Given the description of an element on the screen output the (x, y) to click on. 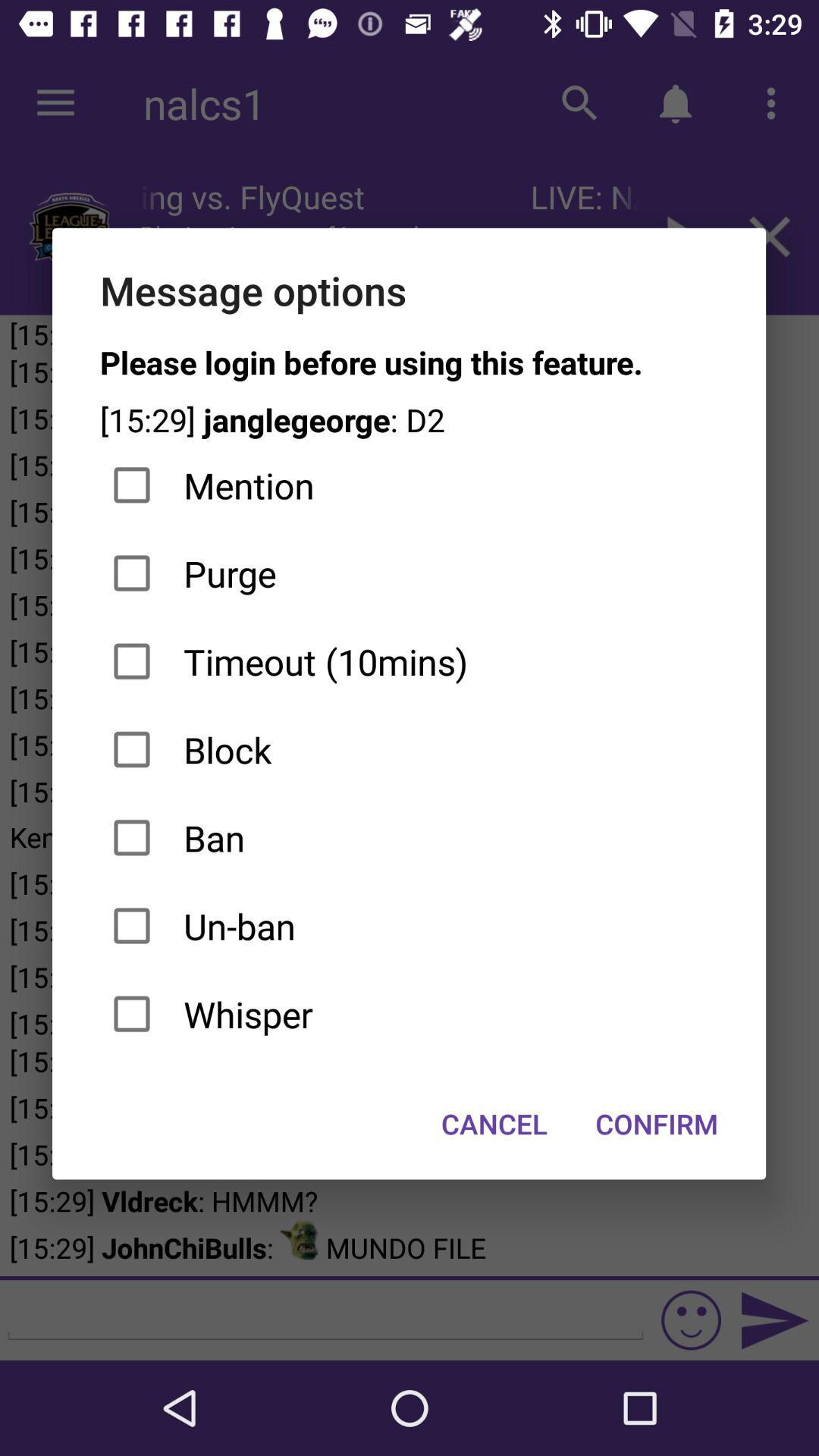
click confirm at the bottom right corner (656, 1123)
